Given the description of an element on the screen output the (x, y) to click on. 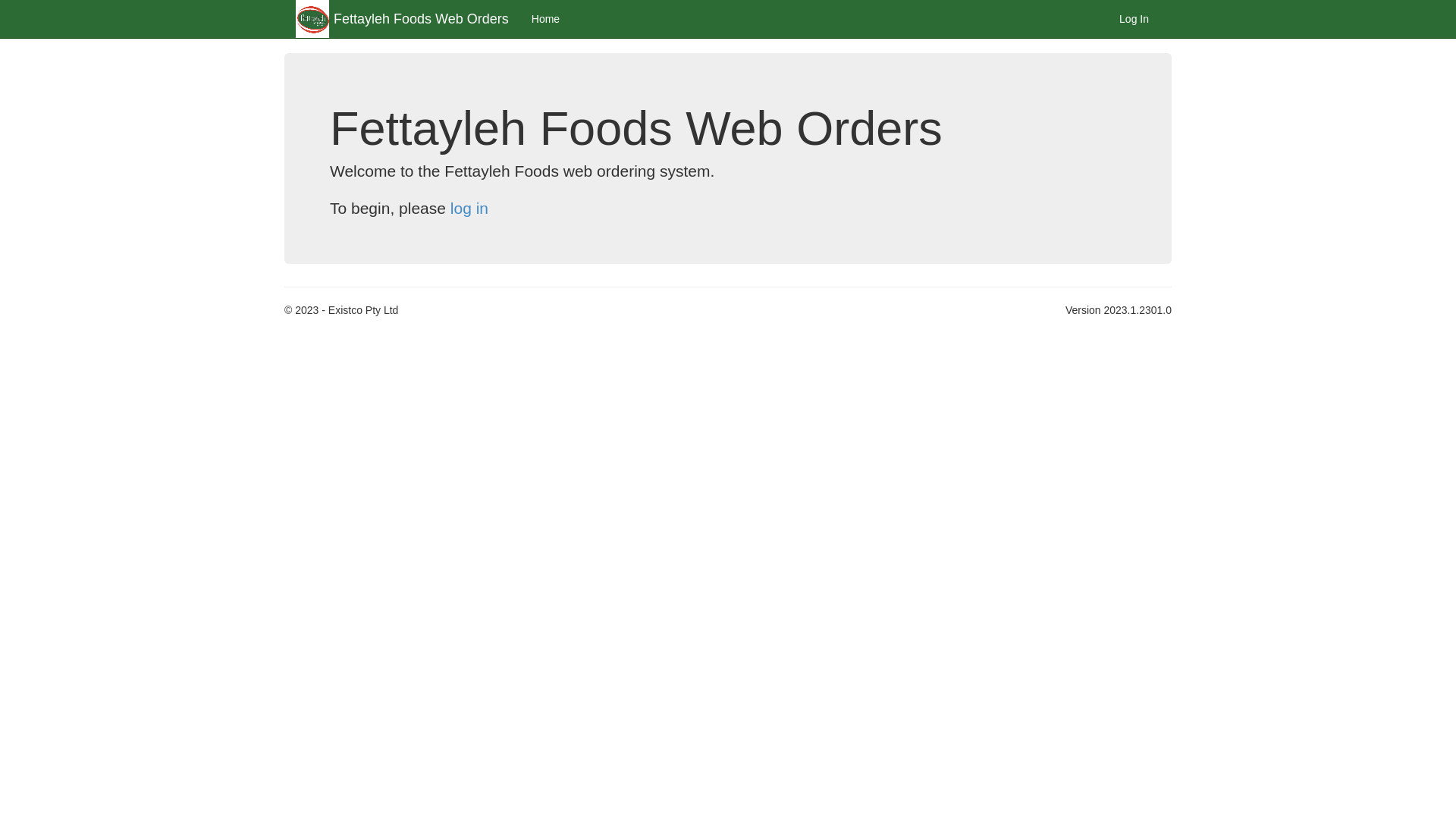
Fettayleh Foods Web Orders Element type: text (421, 18)
Log In Element type: text (1133, 18)
Home Element type: text (545, 18)
log in Element type: text (469, 207)
